Given the description of an element on the screen output the (x, y) to click on. 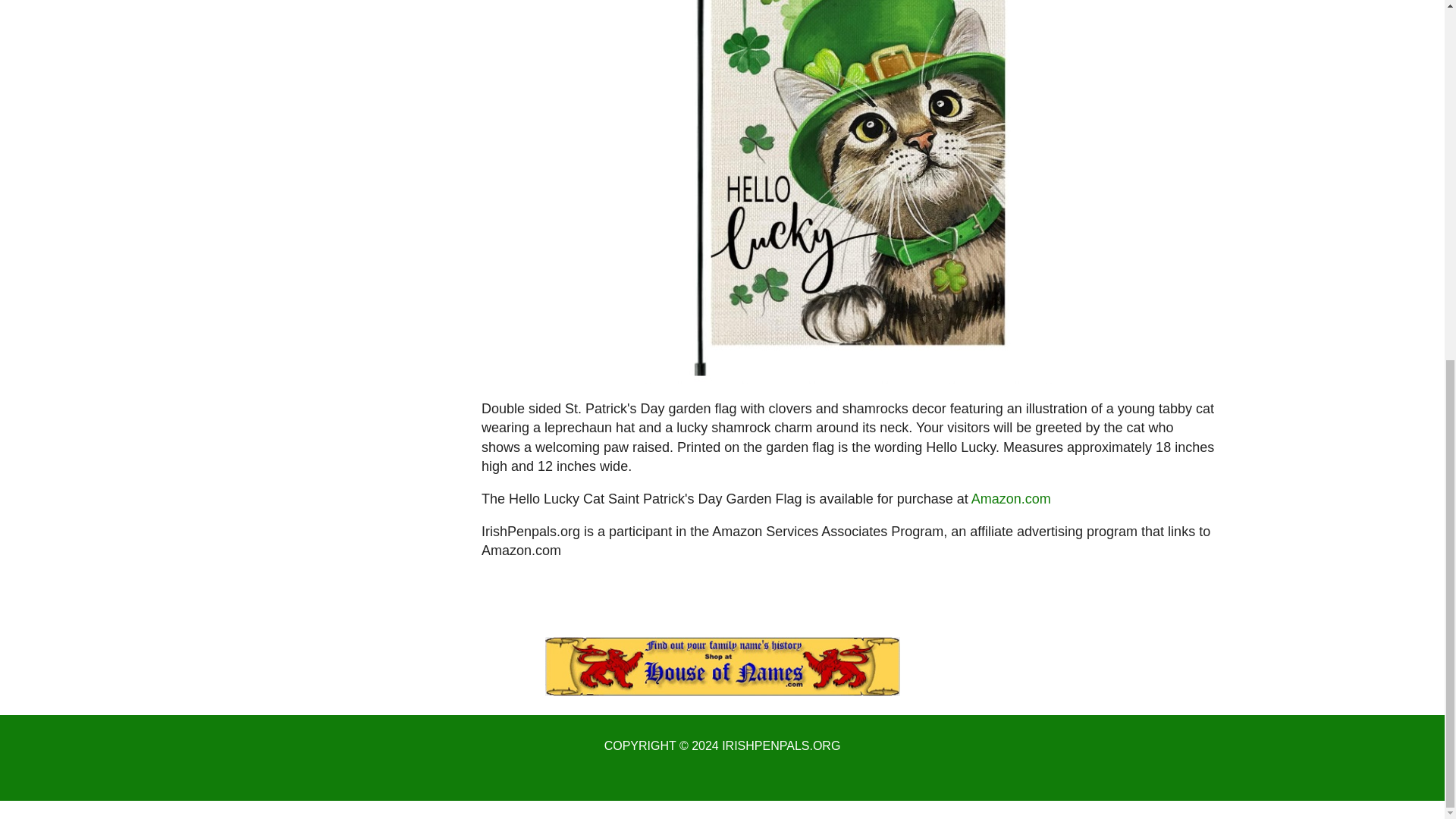
HouseOfNames Last Name Histories and Coat of Arms (721, 666)
Amazon.com (1011, 498)
